Given the description of an element on the screen output the (x, y) to click on. 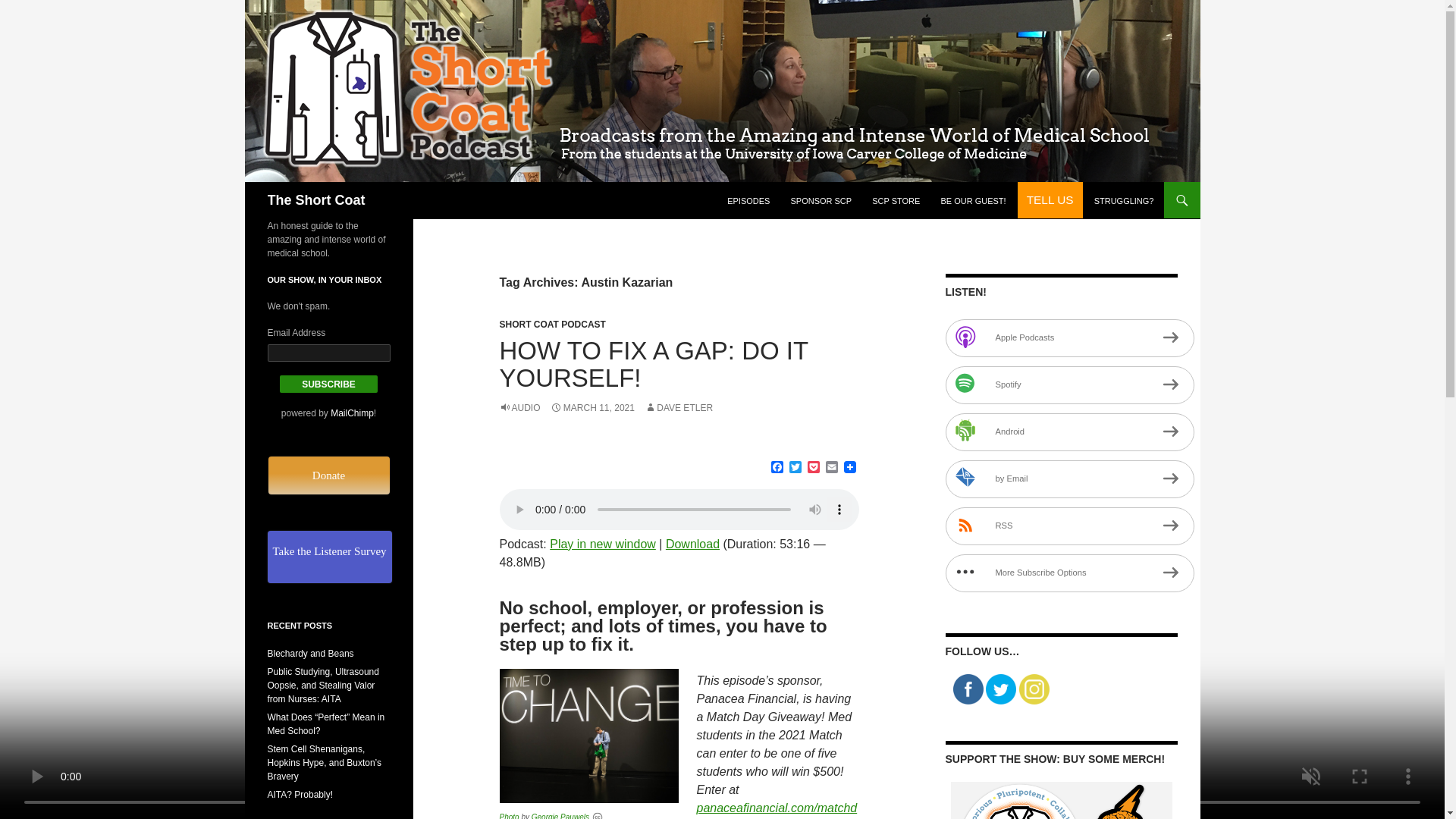
TELL US (1050, 199)
AUDIO (519, 407)
Subscribe on Apple Podcasts (1068, 338)
Download (692, 543)
Download (692, 543)
Facebook (968, 689)
calltoaction (1050, 199)
MARCH 11, 2021 (592, 407)
